Given the description of an element on the screen output the (x, y) to click on. 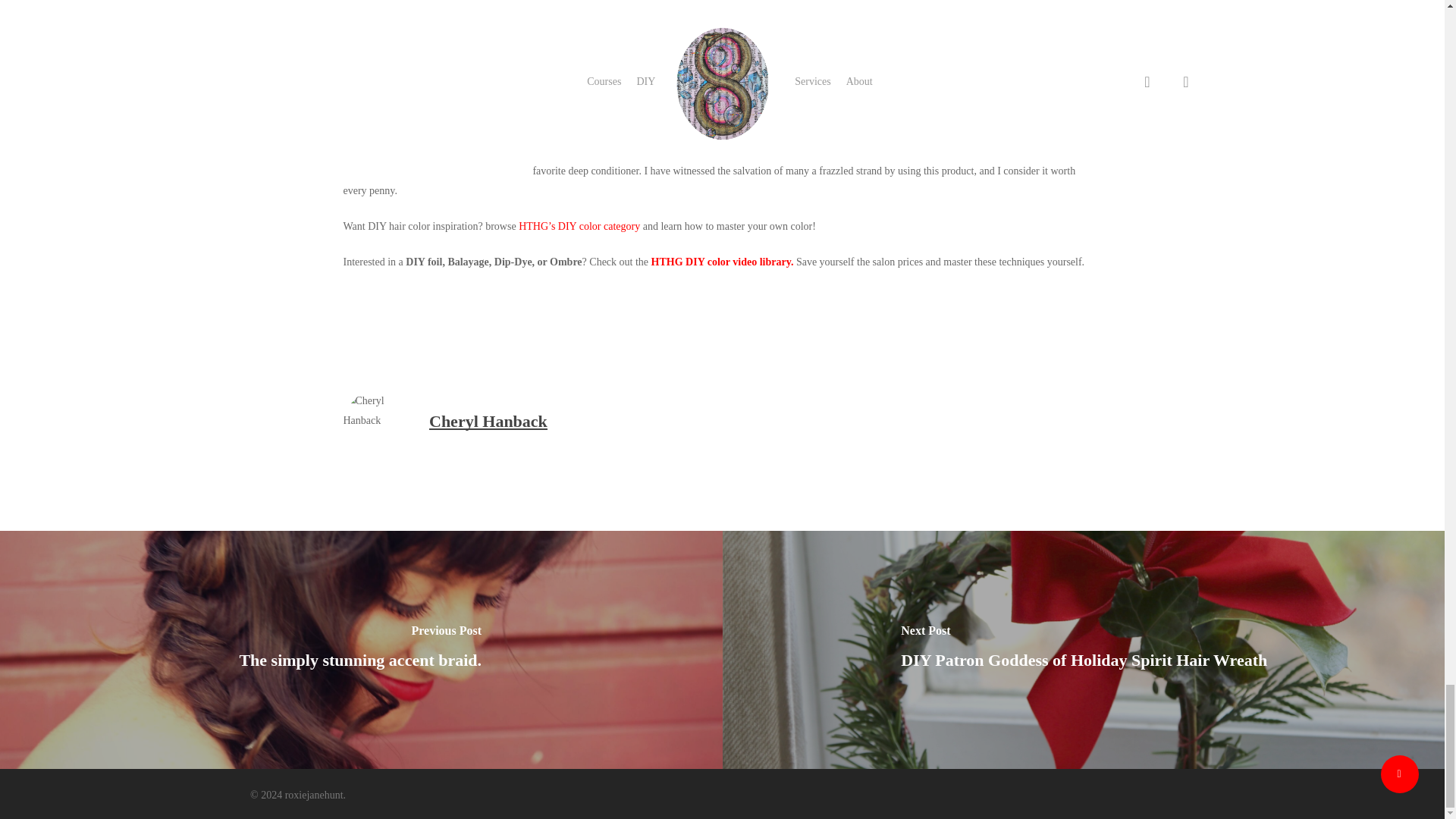
Trim your own ends (814, 105)
